Given the description of an element on the screen output the (x, y) to click on. 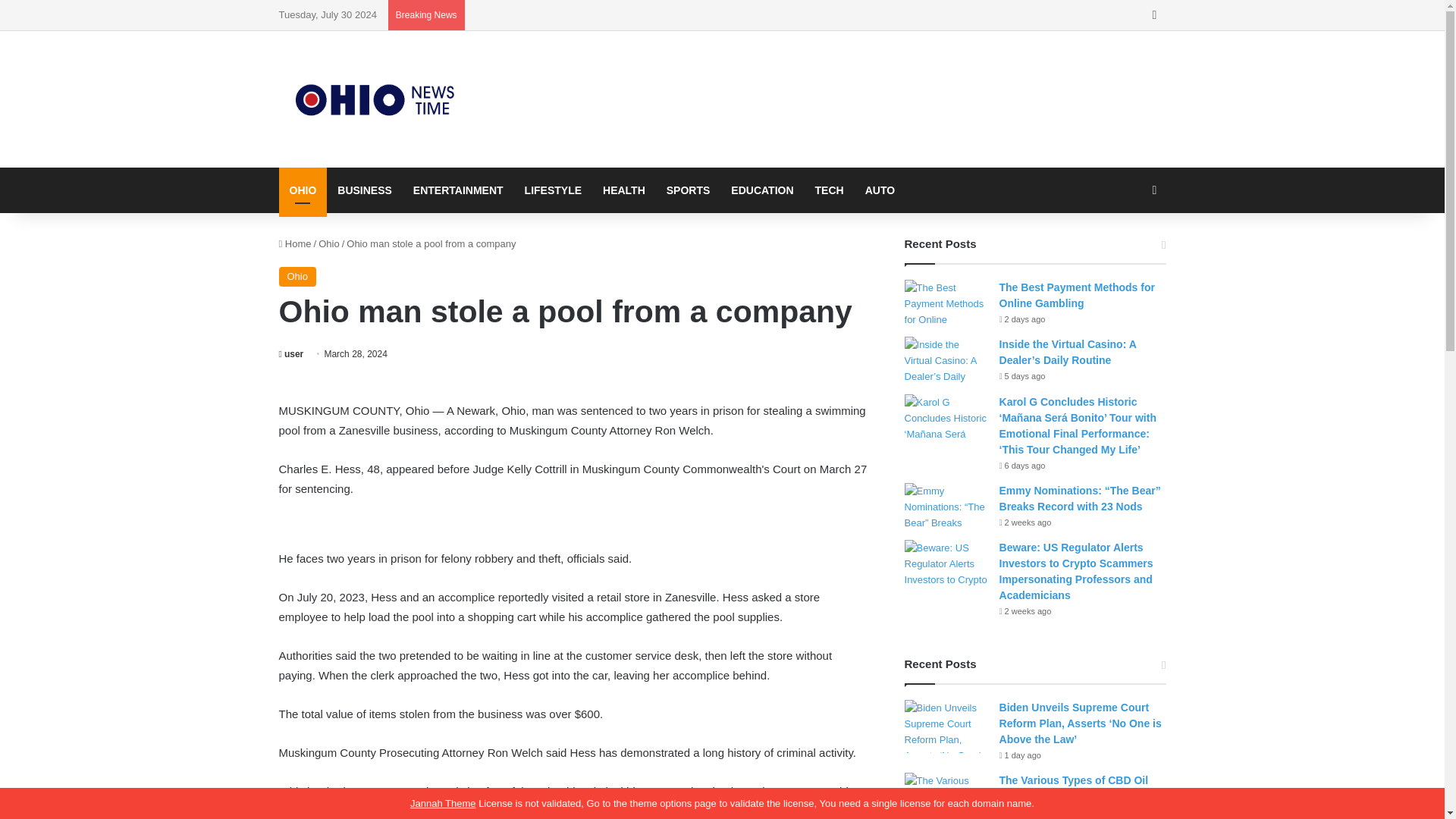
LIFESTYLE (552, 189)
Home (295, 243)
Ohio (328, 243)
AUTO (879, 189)
Ohionewstime.com (377, 99)
Ohio (297, 276)
user (291, 353)
TECH (829, 189)
OHIO (303, 189)
EDUCATION (761, 189)
user (291, 353)
ENTERTAINMENT (458, 189)
BUSINESS (364, 189)
HEALTH (624, 189)
Jannah Theme (443, 803)
